Given the description of an element on the screen output the (x, y) to click on. 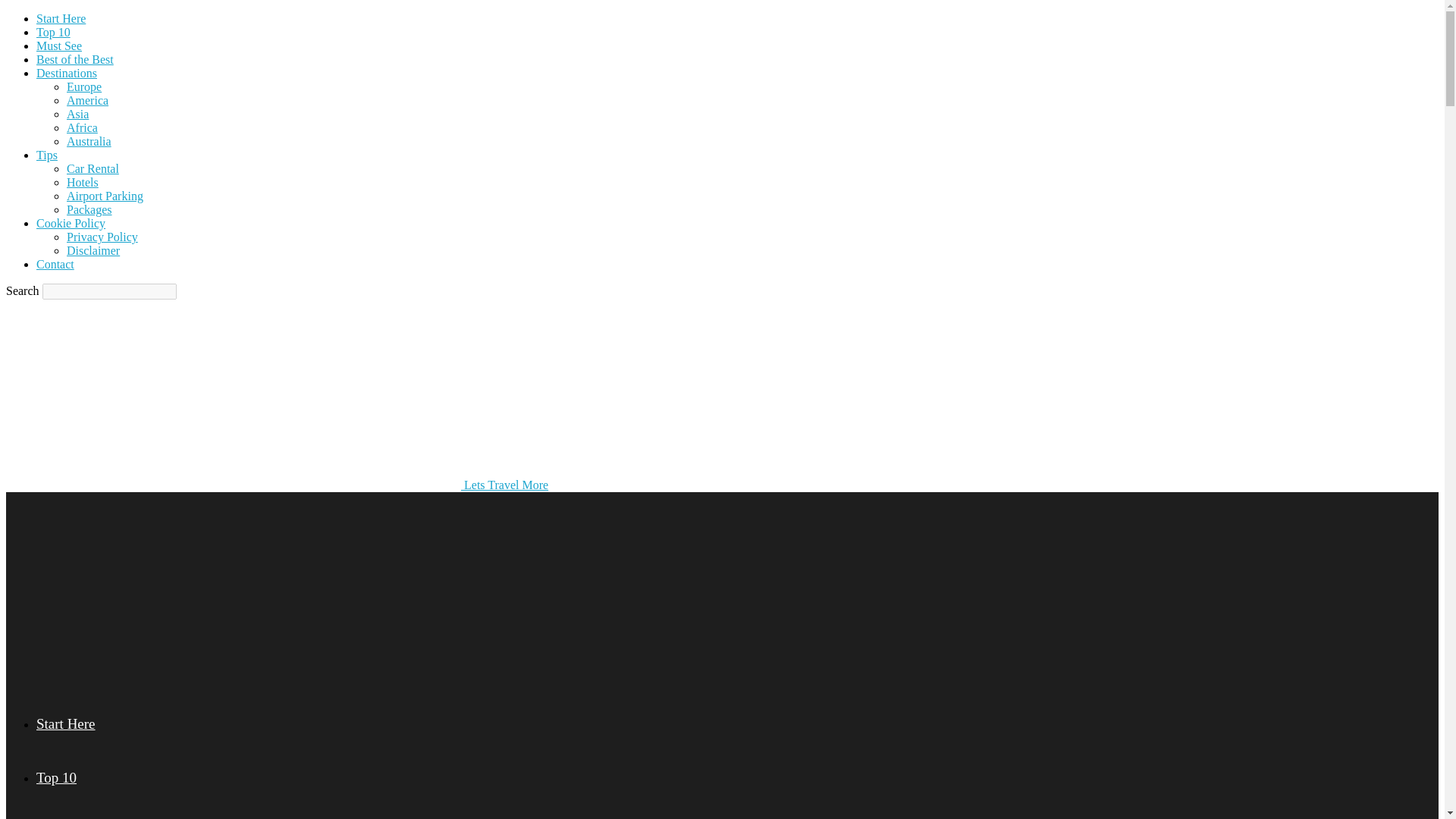
Australia (89, 141)
Europe (83, 86)
Top 10 (56, 777)
Asia (77, 113)
Start Here (60, 18)
Contact (55, 264)
Start Here (66, 723)
Lets Travel More (233, 393)
Lets Travel More (276, 484)
Privacy Policy (102, 236)
Best of the Best (74, 59)
Must See (58, 45)
Tips (47, 154)
Disclaimer (92, 250)
